Given the description of an element on the screen output the (x, y) to click on. 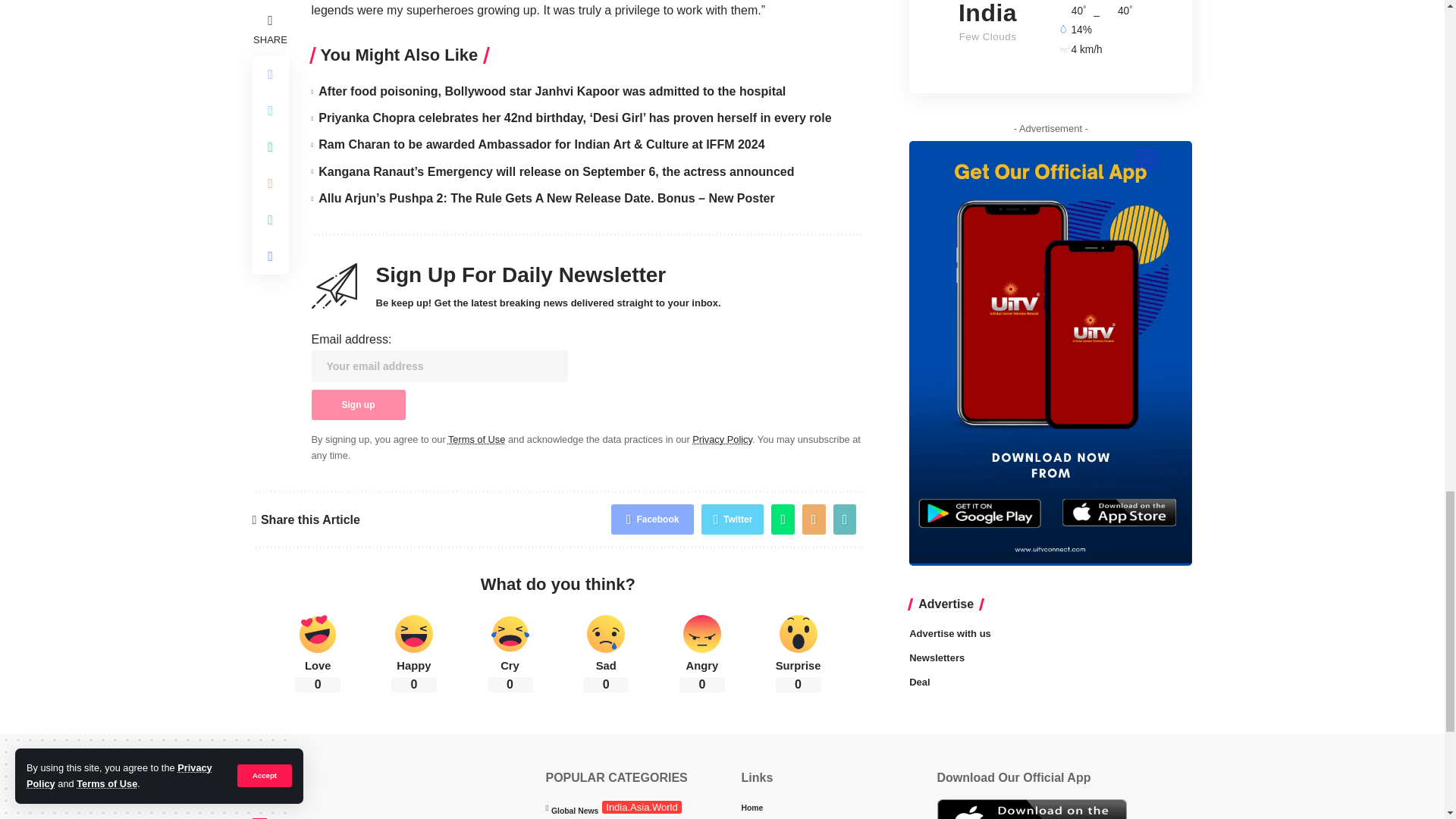
Sign up (357, 404)
